Given the description of an element on the screen output the (x, y) to click on. 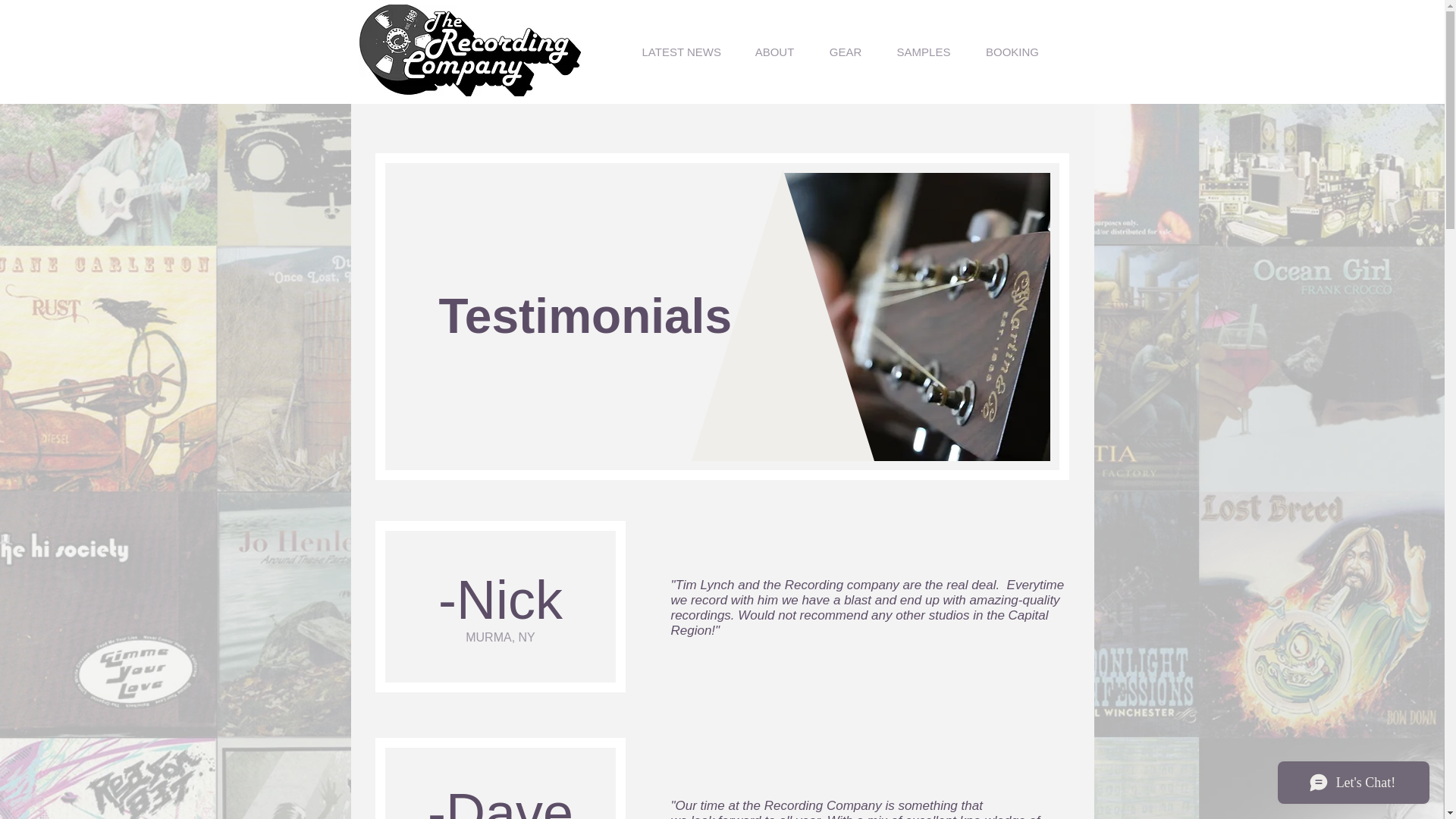
ABOUT (773, 51)
GEAR (844, 51)
SAMPLES (923, 51)
BOOKING (1012, 51)
EFFECTION (467, 40)
LATEST NEWS (681, 51)
